Given the description of an element on the screen output the (x, y) to click on. 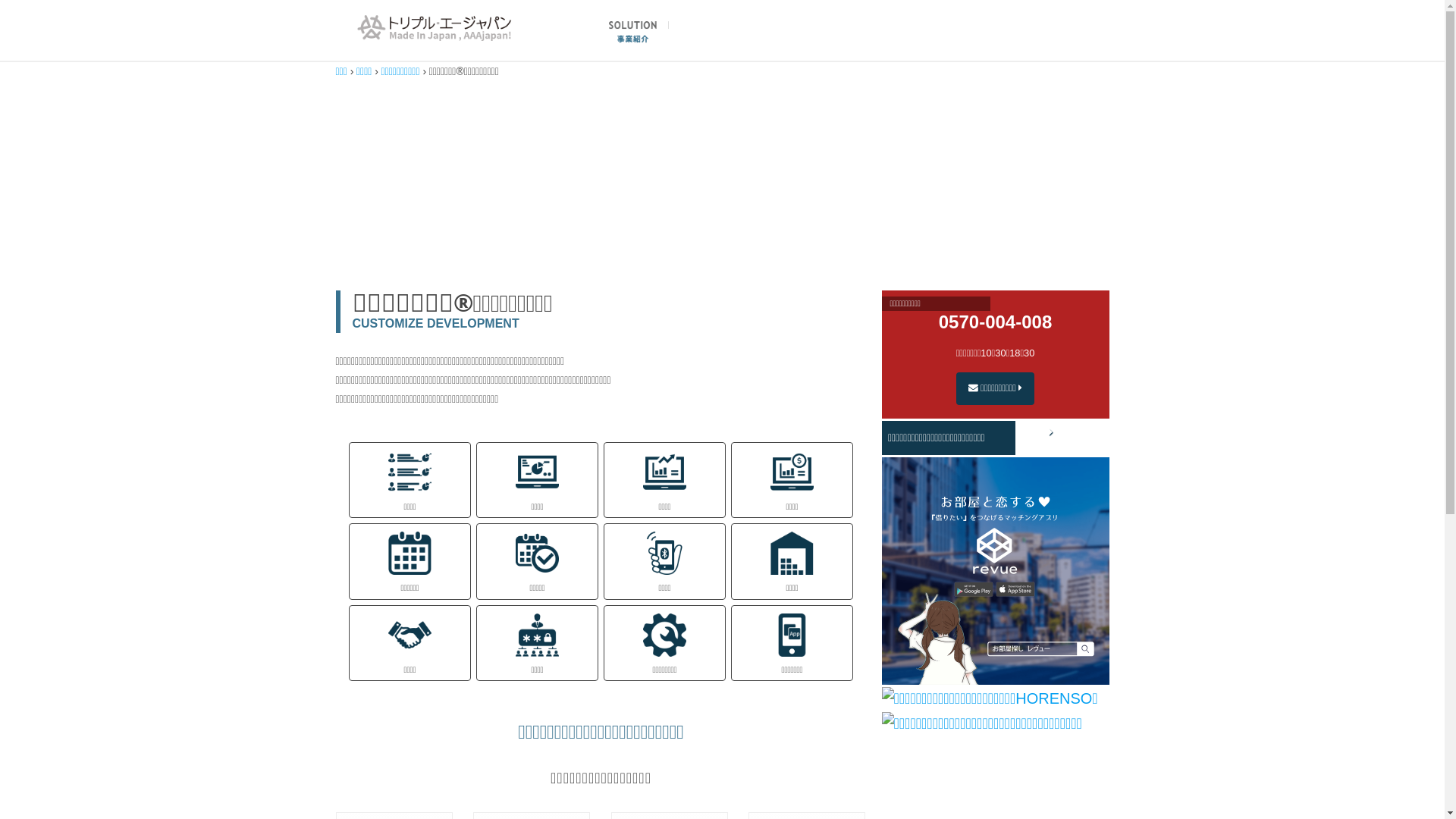
0570-004-008 Element type: text (994, 321)
